Given the description of an element on the screen output the (x, y) to click on. 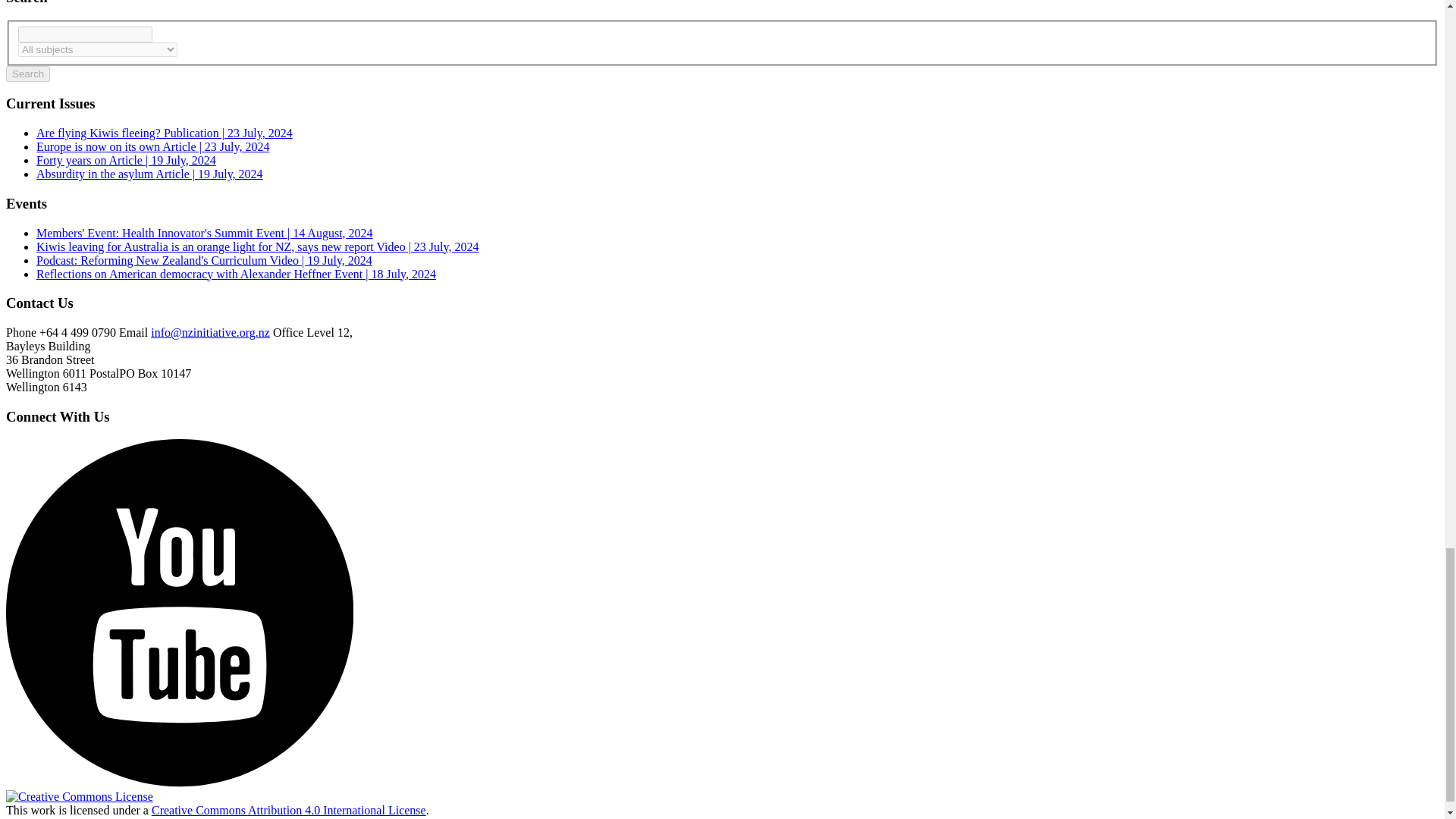
Search (27, 73)
Members' Event: Health Innovator's Summit (204, 232)
Europe is now on its own (152, 146)
Are flying Kiwis fleeing? (164, 132)
Podcast: Reforming New Zealand's Curriculum (204, 259)
Forty years on (125, 160)
Absurdity in the asylum (149, 173)
Reflections on American democracy with Alexander Heffner (235, 273)
